Given the description of an element on the screen output the (x, y) to click on. 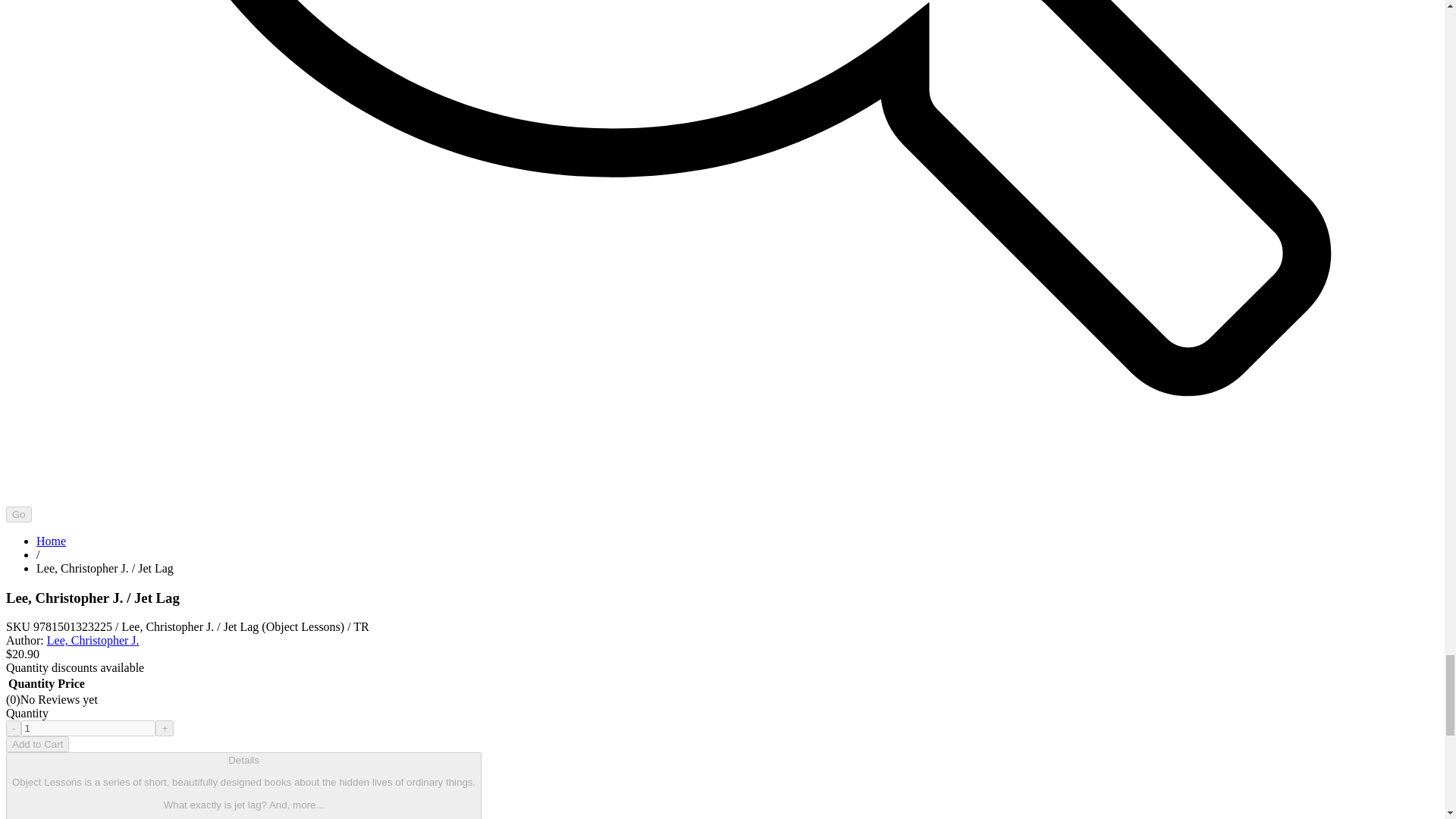
1 (88, 728)
